Given the description of an element on the screen output the (x, y) to click on. 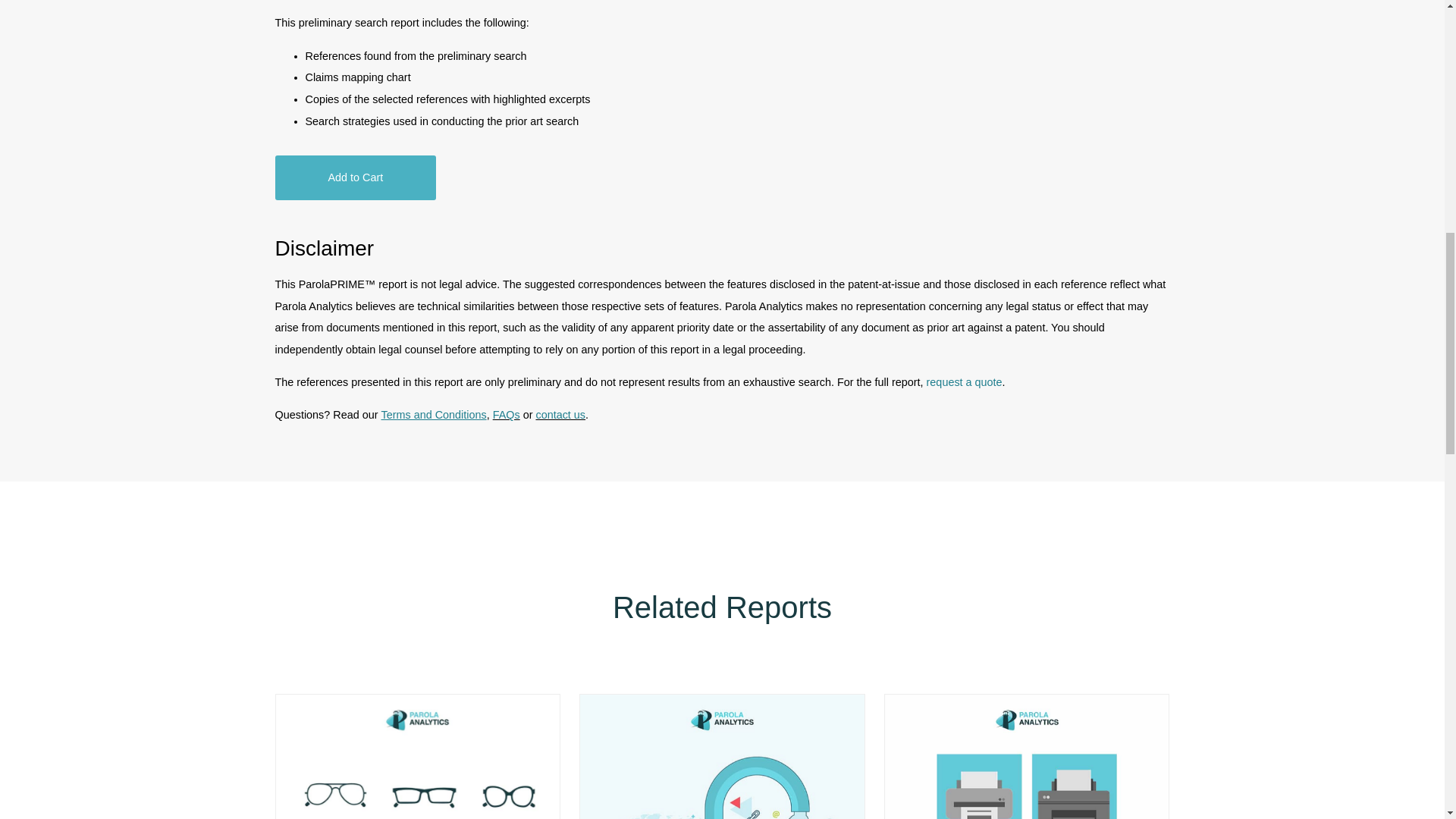
request a quote (964, 381)
FAQs (506, 414)
contact us (560, 414)
Terms and Conditions (433, 414)
Add to Cart (355, 177)
